Given the description of an element on the screen output the (x, y) to click on. 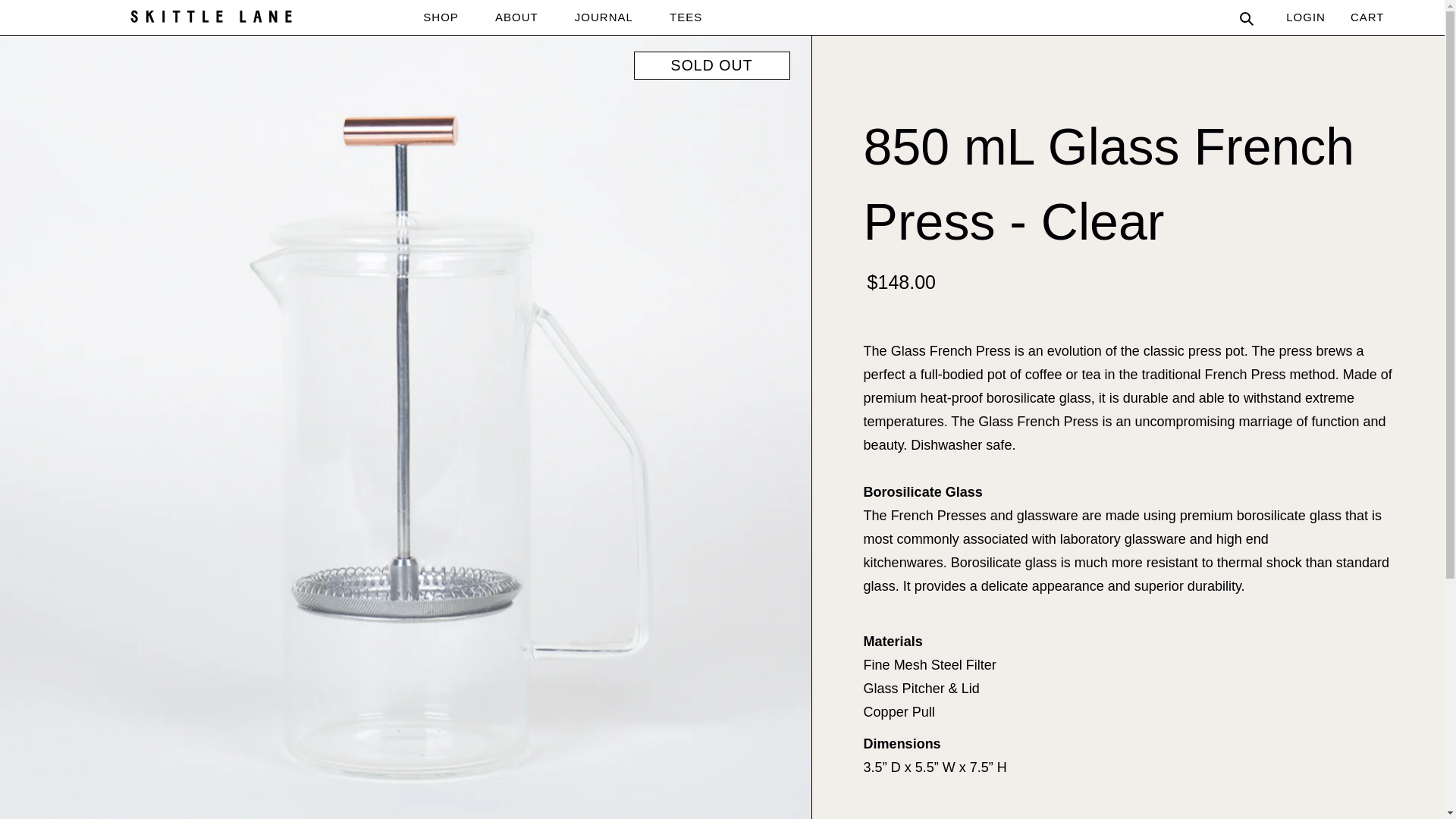
ABOUT (516, 17)
JOURNAL (604, 17)
Search (1247, 16)
TEES (685, 17)
CART (1354, 17)
SHOP (440, 17)
